Given the description of an element on the screen output the (x, y) to click on. 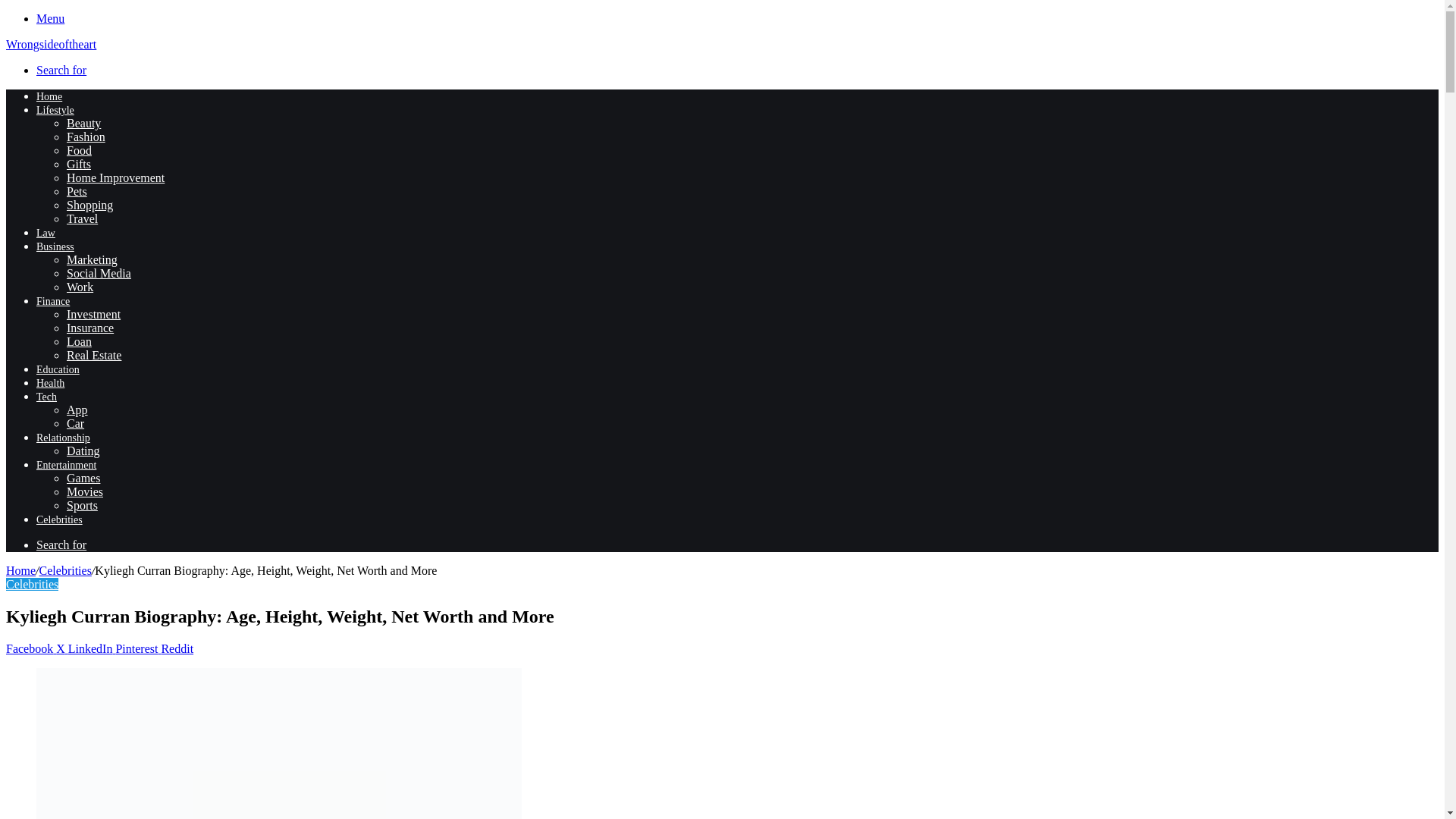
Travel (81, 218)
Search for (60, 544)
Tech (46, 396)
Education (58, 369)
Finance (52, 301)
Home (19, 570)
Search for (60, 69)
Menu (50, 18)
Pinterest (137, 648)
Lifestyle (55, 110)
Facebook (30, 648)
Celebrities (65, 570)
Social Media (98, 273)
Entertainment (66, 464)
Home Improvement (115, 177)
